Given the description of an element on the screen output the (x, y) to click on. 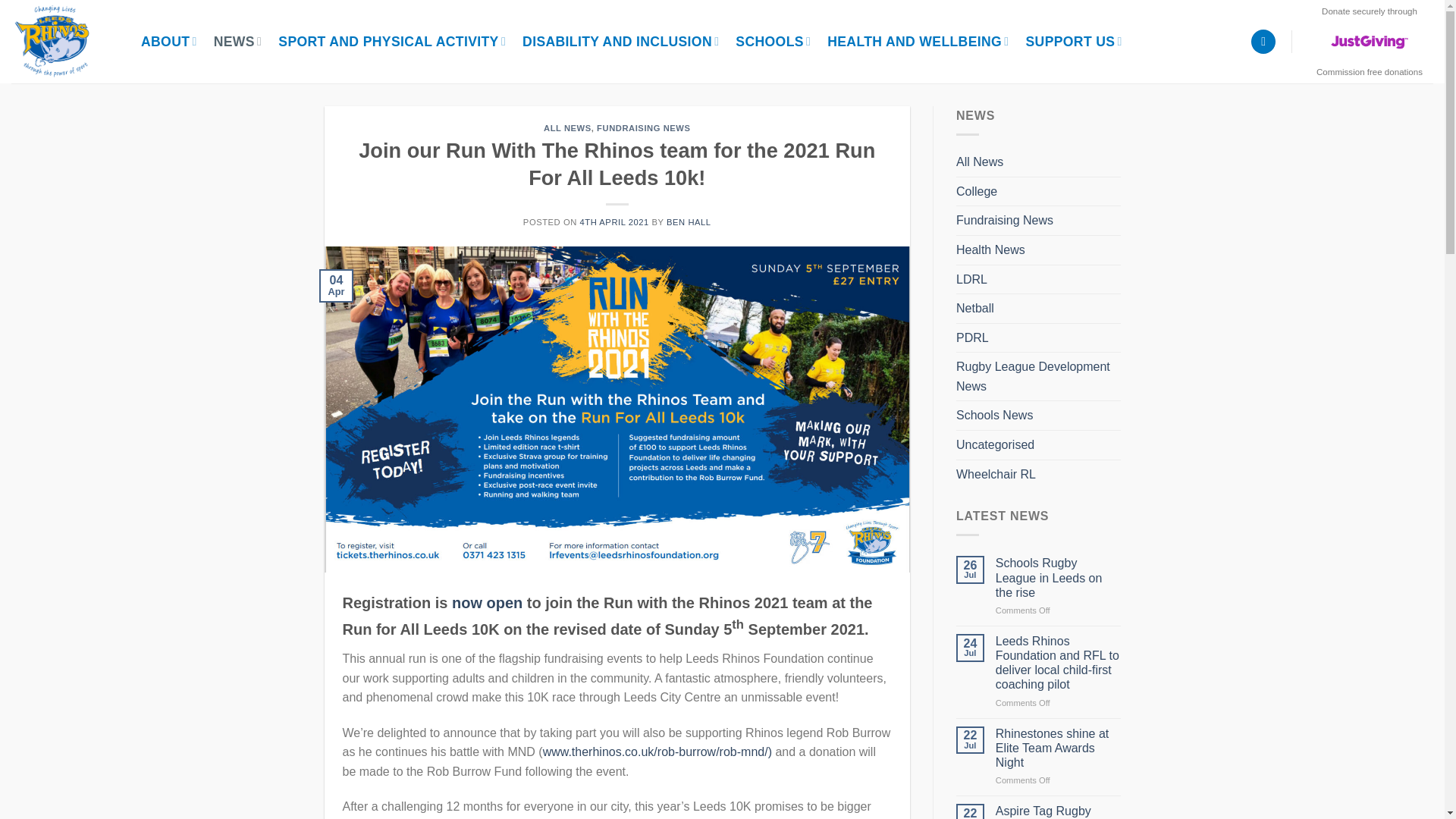
ABOUT (168, 41)
SPORT AND PHYSICAL ACTIVITY (391, 41)
Aspire Tag Rugby Festival returns to AMT Headingley Stadium (1058, 811)
NEWS (238, 41)
Leeds Rhinos Foundation - Changing Lives Through Sport (60, 41)
DISABILITY AND INCLUSION (620, 41)
Rhinestones shine at Elite Team Awards Night (1058, 748)
Schools Rugby League in Leeds on the rise (1058, 577)
